Given the description of an element on the screen output the (x, y) to click on. 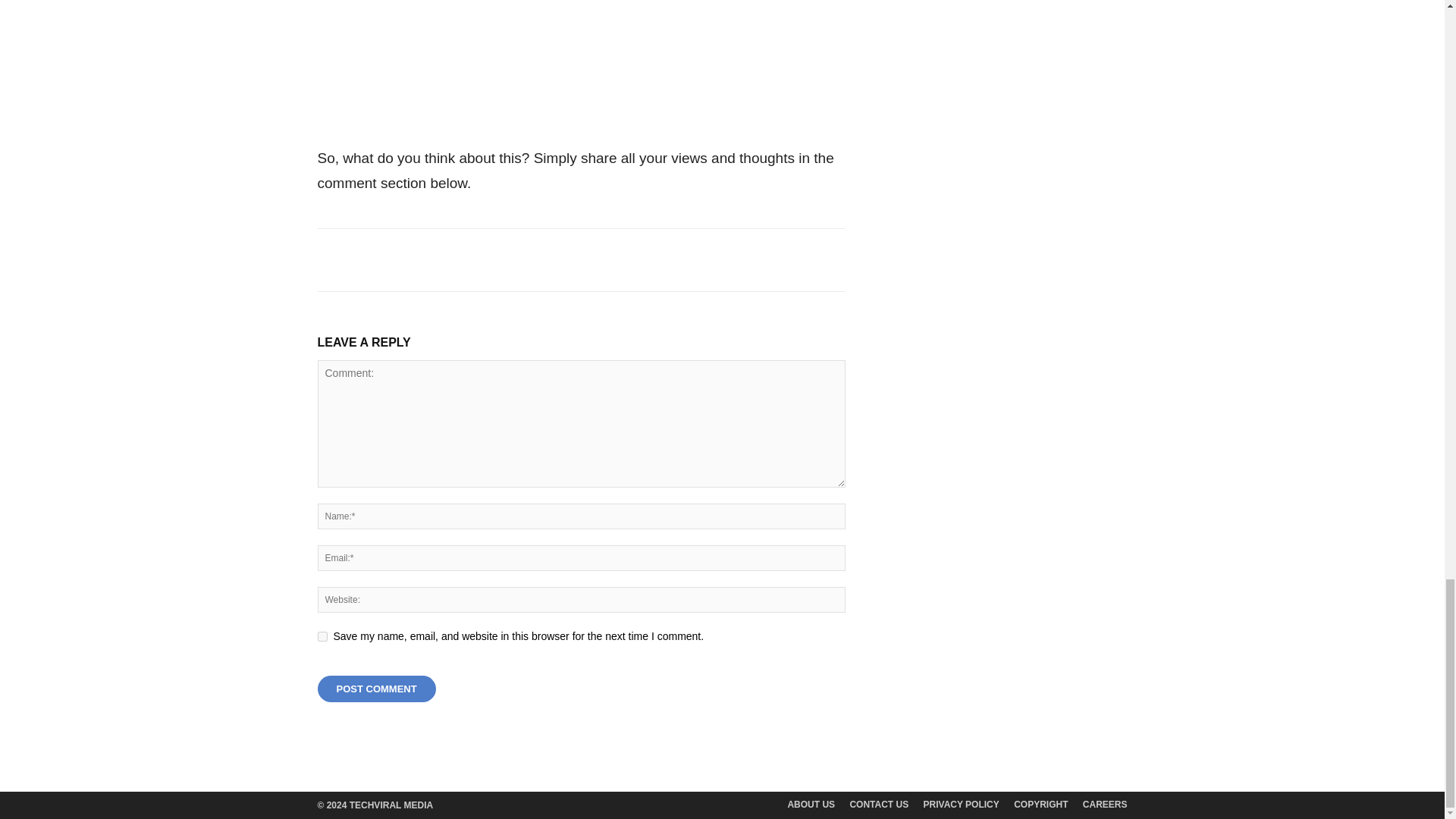
yes (321, 636)
Post Comment (376, 688)
Post Comment (376, 688)
